Given the description of an element on the screen output the (x, y) to click on. 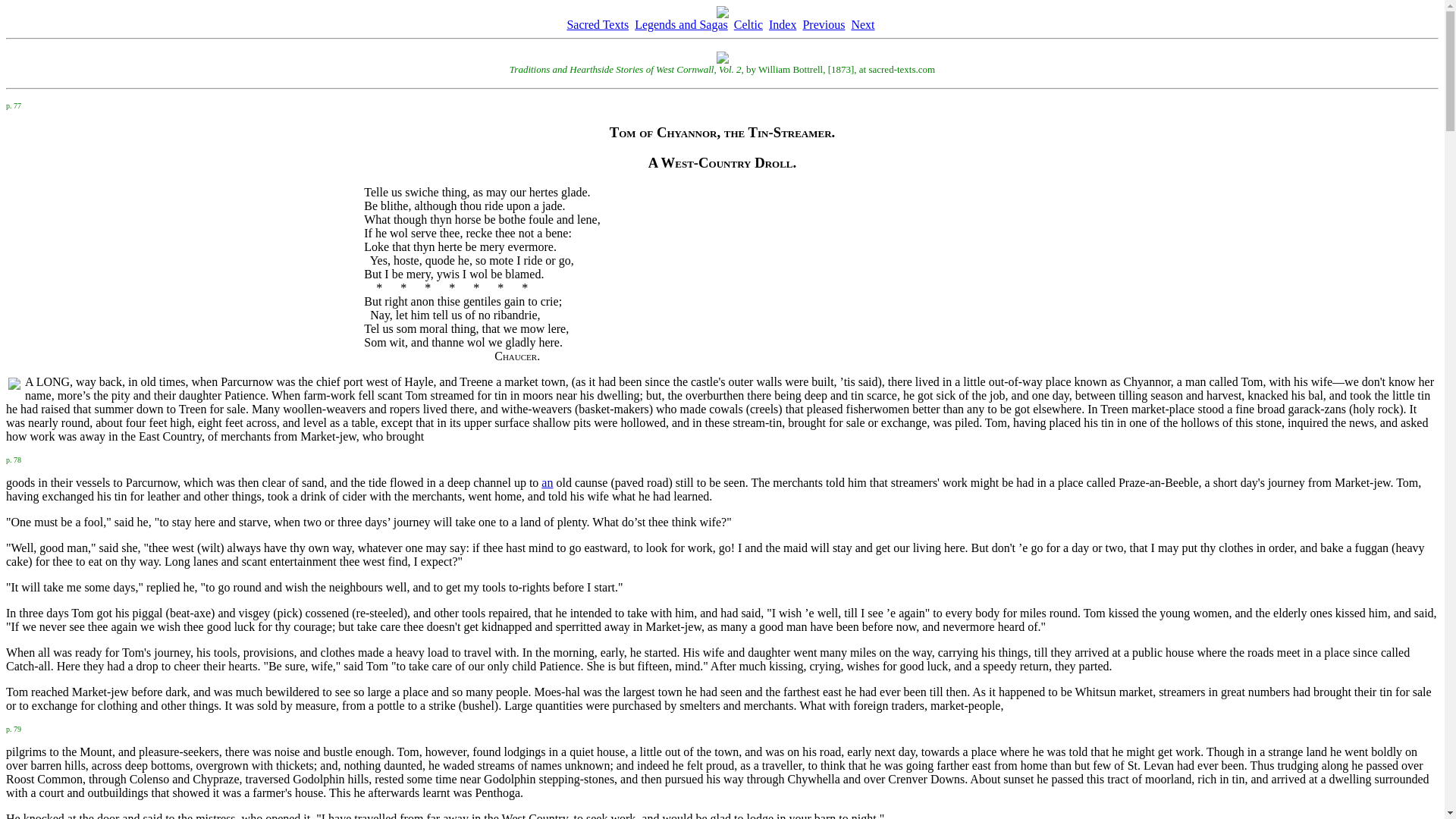
Next (862, 24)
Sacred Texts (597, 24)
p. 79 (13, 727)
Celtic (747, 24)
Legends and Sagas (681, 24)
Previous (823, 24)
p. 77 (13, 103)
Index (782, 24)
p. 78 (13, 458)
